Given the description of an element on the screen output the (x, y) to click on. 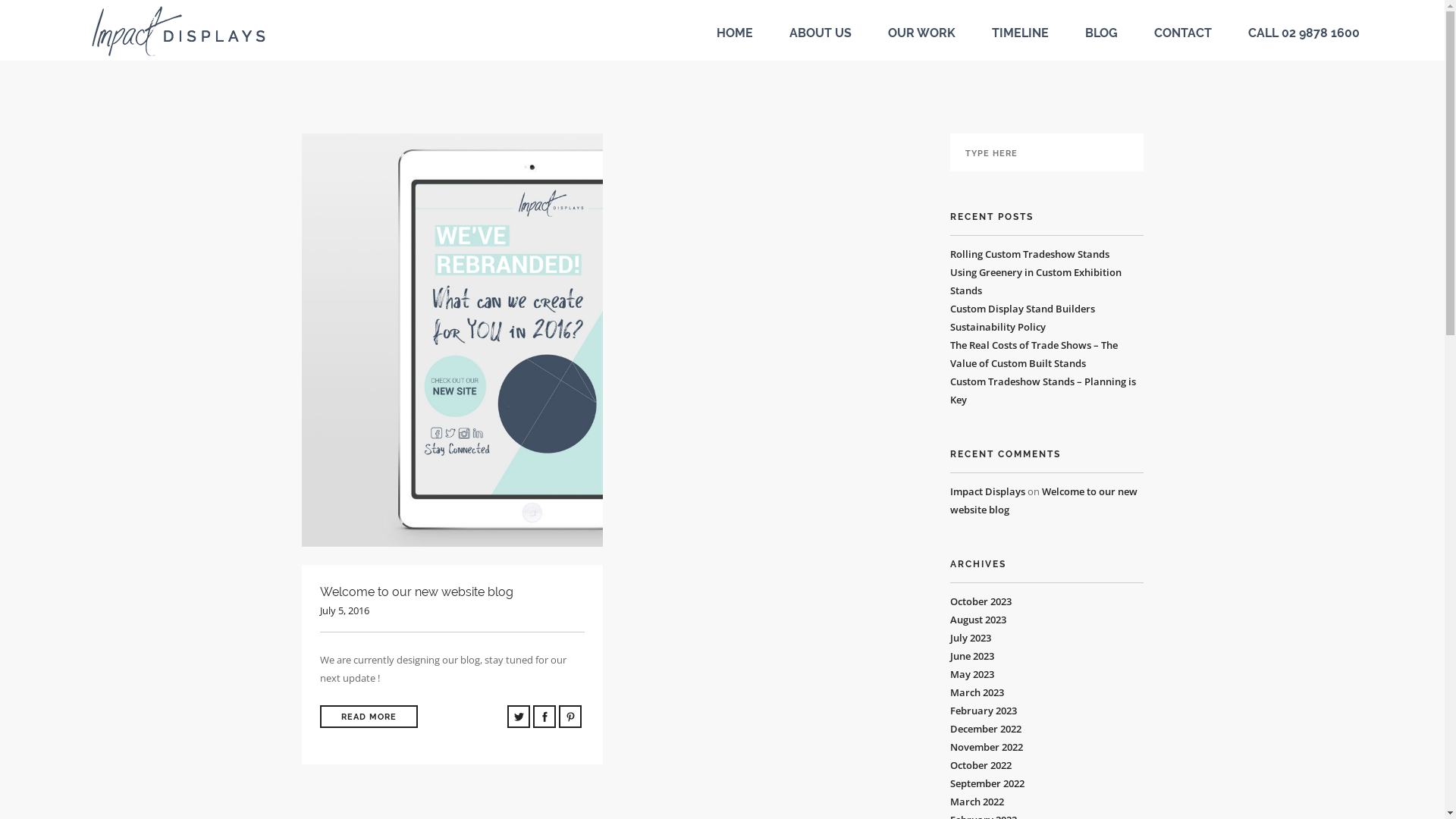
September 2022 Element type: text (986, 783)
ABOUT US Element type: text (819, 33)
Rolling Custom Tradeshow Stands Element type: text (1028, 253)
Welcome to our new website blog Element type: text (1042, 500)
CONTACT Element type: text (1182, 33)
TIMELINE Element type: text (1019, 33)
Welcome to our new website blog
July 5, 2016 Element type: text (452, 600)
June 2023 Element type: text (971, 655)
October 2022 Element type: text (979, 764)
HOME Element type: text (733, 33)
Using Greenery in Custom Exhibition Stands Element type: text (1034, 281)
OUR WORK Element type: text (920, 33)
November 2022 Element type: text (985, 746)
CALL 02 9878 1600 Element type: text (1303, 33)
August 2023 Element type: text (977, 619)
May 2023 Element type: text (971, 673)
December 2022 Element type: text (984, 728)
March 2023 Element type: text (976, 692)
Custom Display Stand Builders Sustainability Policy Element type: text (1021, 317)
Impact Displays Element type: text (986, 491)
February 2023 Element type: text (982, 710)
October 2023 Element type: text (979, 601)
BLOG Element type: text (1100, 33)
March 2022 Element type: text (976, 801)
July 2023 Element type: text (969, 637)
READ MORE Element type: text (368, 716)
